Given the description of an element on the screen output the (x, y) to click on. 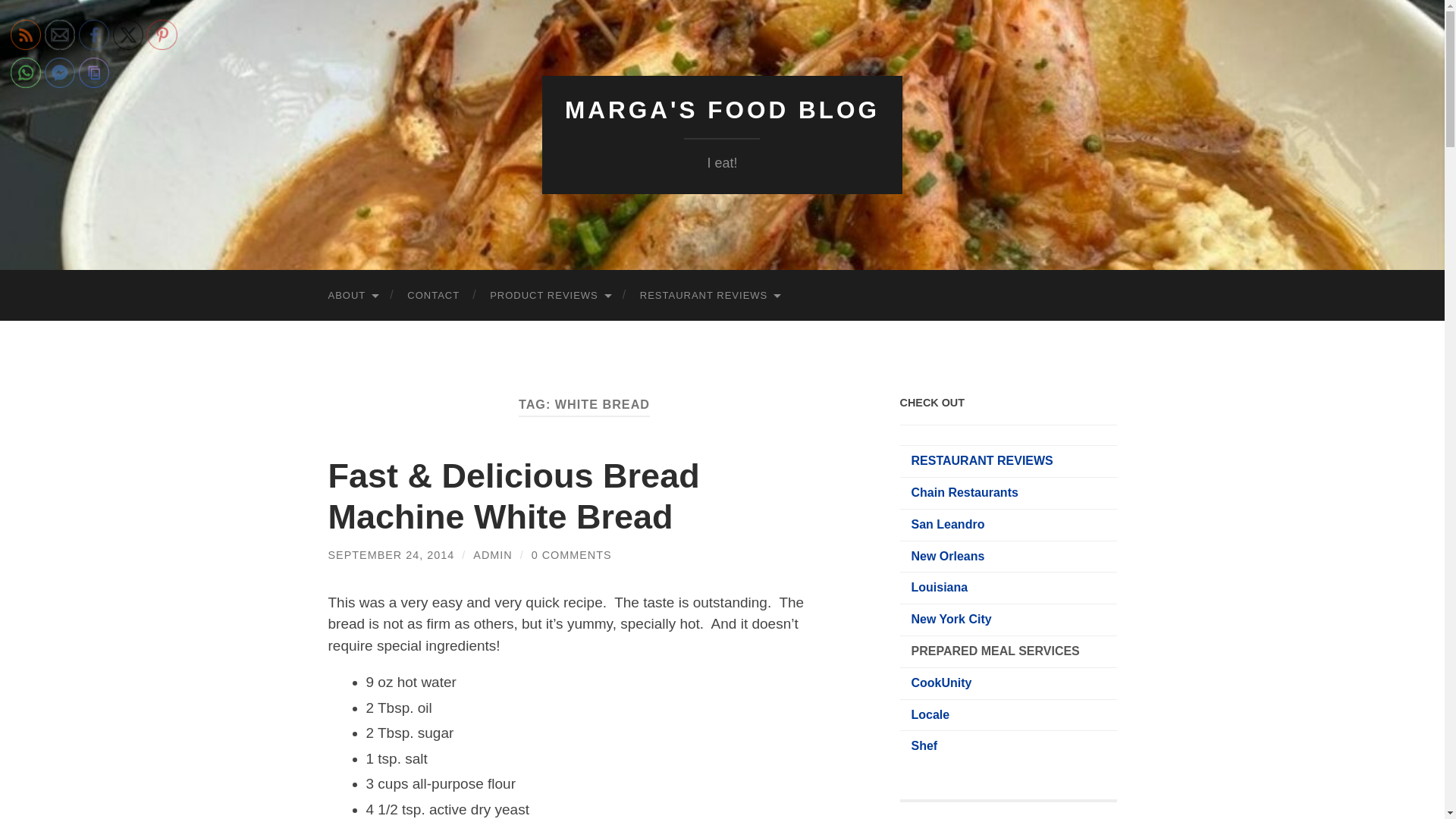
FbMessenger (60, 72)
RSS (25, 34)
ABOUT (352, 295)
Pinterest (162, 34)
CONTACT (432, 295)
0 COMMENTS (571, 554)
PRODUCT REVIEWS (549, 295)
WhatsApp (25, 72)
MARGA'S FOOD BLOG (721, 109)
RESTAURANT REVIEWS (708, 295)
